Given the description of an element on the screen output the (x, y) to click on. 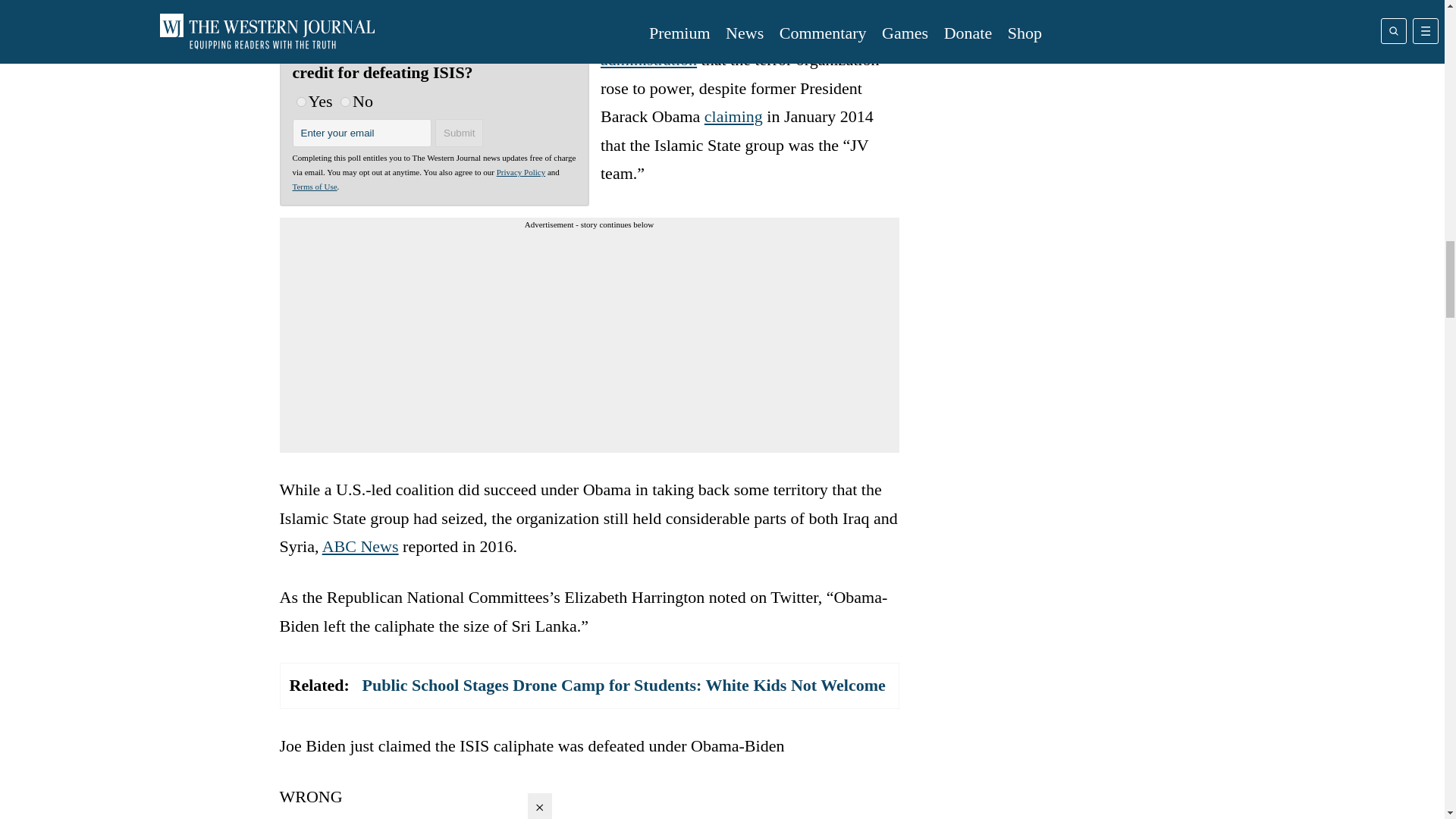
yes (300, 102)
Submit (459, 132)
no (345, 102)
